Given the description of an element on the screen output the (x, y) to click on. 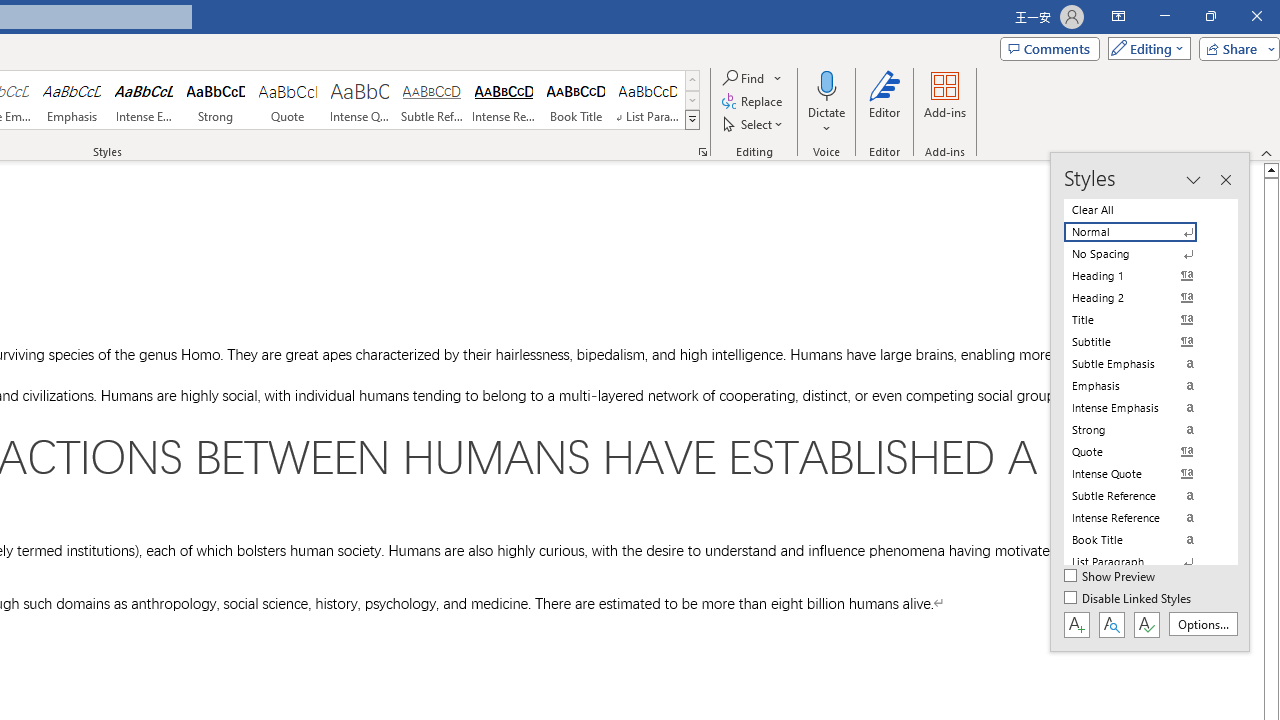
Intense Emphasis (143, 100)
Subtle Reference (431, 100)
Options... (1202, 623)
Quote (287, 100)
Emphasis (71, 100)
